Given the description of an element on the screen output the (x, y) to click on. 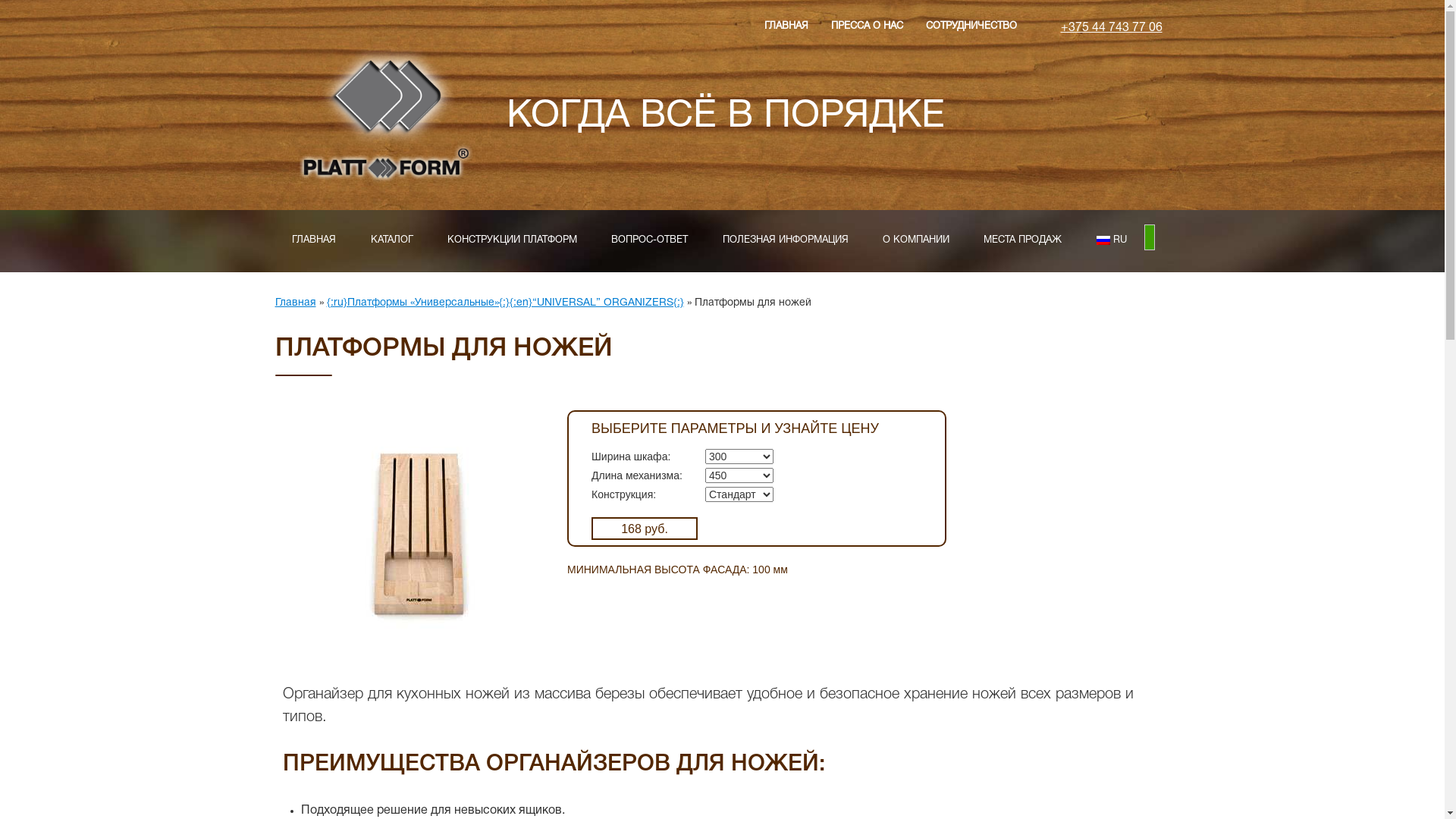
RU Element type: text (1111, 241)
+375 44 743 77 06 Element type: text (1110, 27)
